Given the description of an element on the screen output the (x, y) to click on. 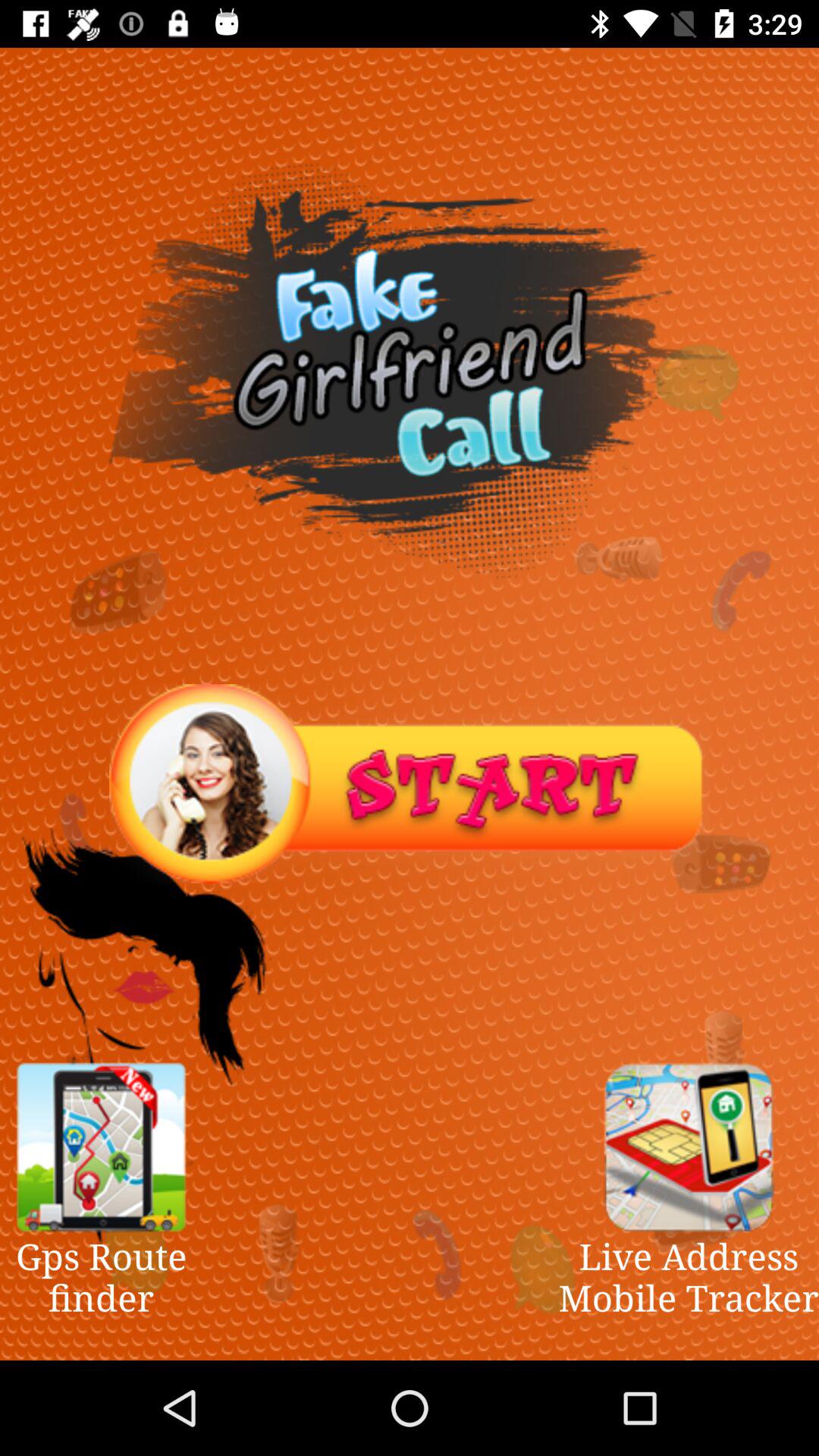
address tracker option (688, 1146)
